Given the description of an element on the screen output the (x, y) to click on. 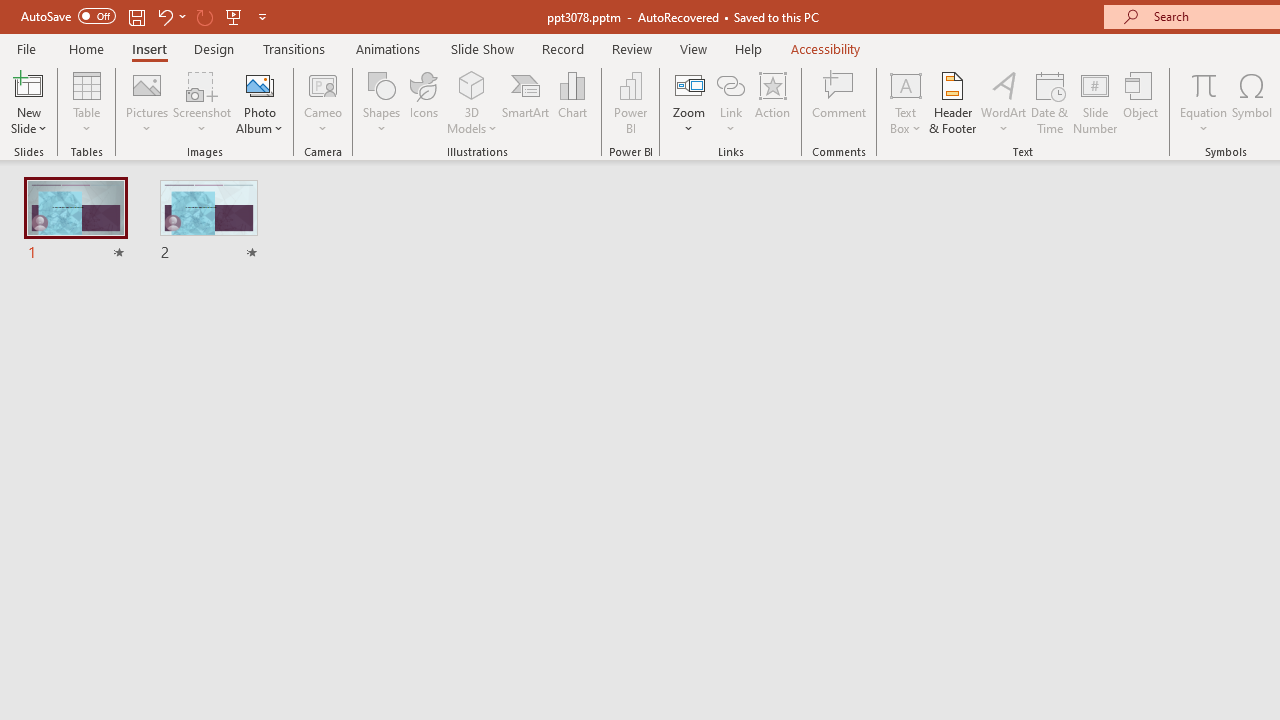
Source Control (Ctrl+Shift+G) (135, 544)
Tab actions (945, 322)
Close Dialog (959, 681)
Close (Ctrl+F4) (946, 322)
